Given the description of an element on the screen output the (x, y) to click on. 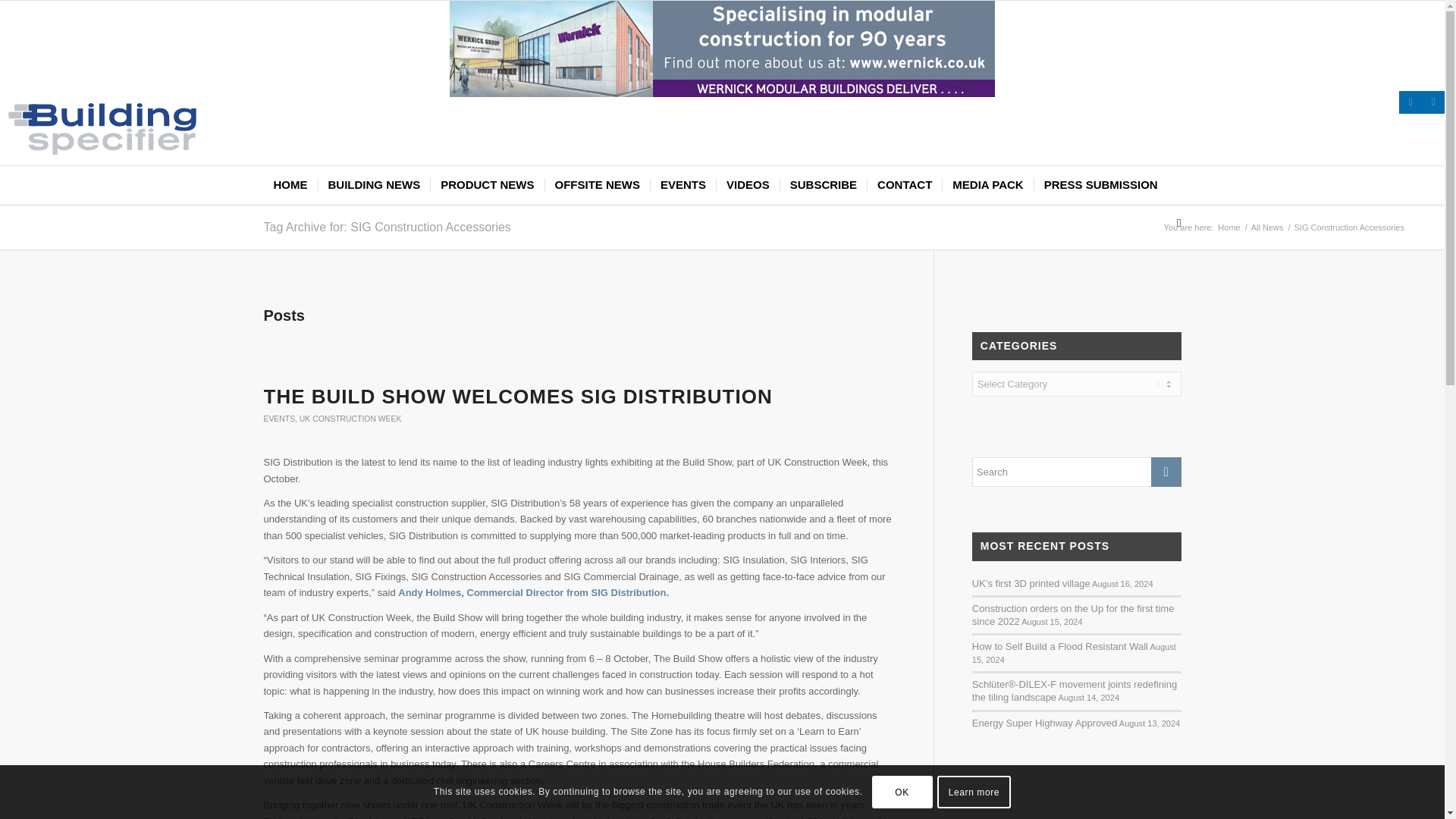
SUBSCRIBE (822, 184)
All News (1267, 227)
EVENTS (682, 184)
CONTACT (904, 184)
PRESS SUBMISSION (1100, 184)
MEDIA PACK (987, 184)
PRODUCT NEWS (486, 184)
Twitter (1410, 101)
EVENTS (279, 418)
